Given the description of an element on the screen output the (x, y) to click on. 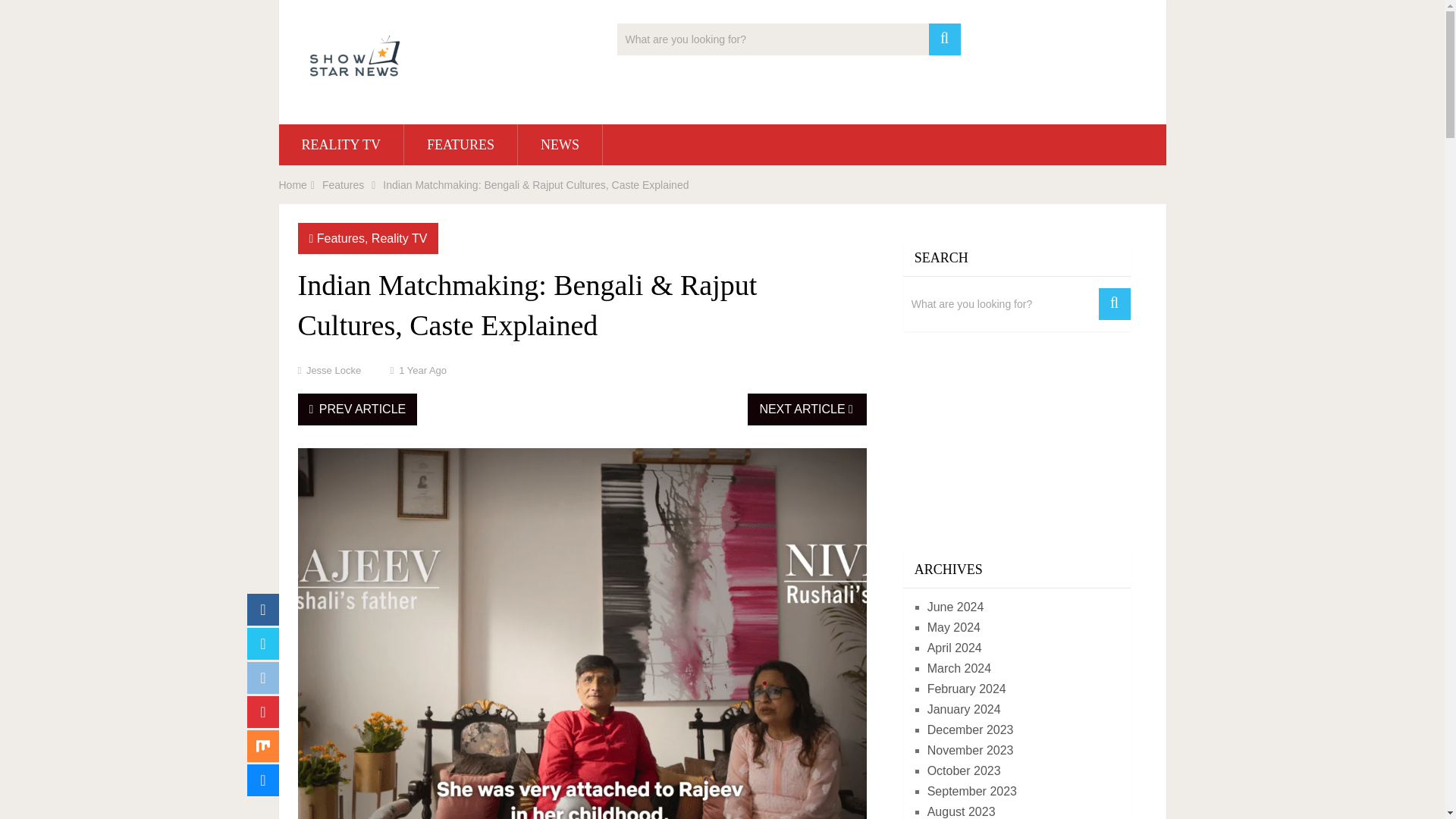
Posts by Jesse Locke (333, 369)
Features (341, 237)
Home (293, 184)
PREV ARTICLE (356, 409)
Jesse Locke (333, 369)
NEXT ARTICLE (807, 409)
View all posts in Features (341, 237)
FEATURES (460, 144)
Reality TV (399, 237)
NEWS (560, 144)
